Given the description of an element on the screen output the (x, y) to click on. 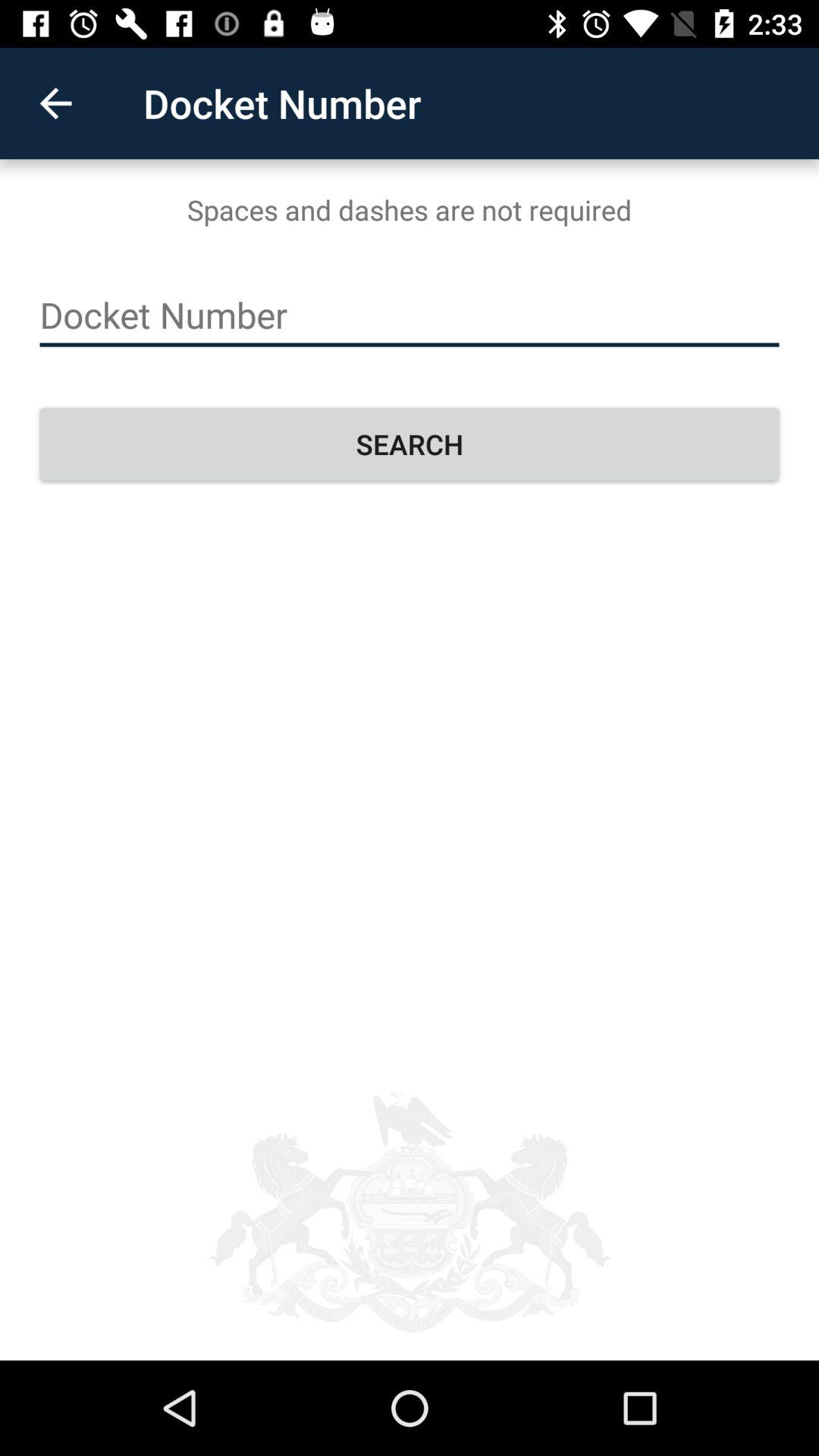
open search item (409, 443)
